Given the description of an element on the screen output the (x, y) to click on. 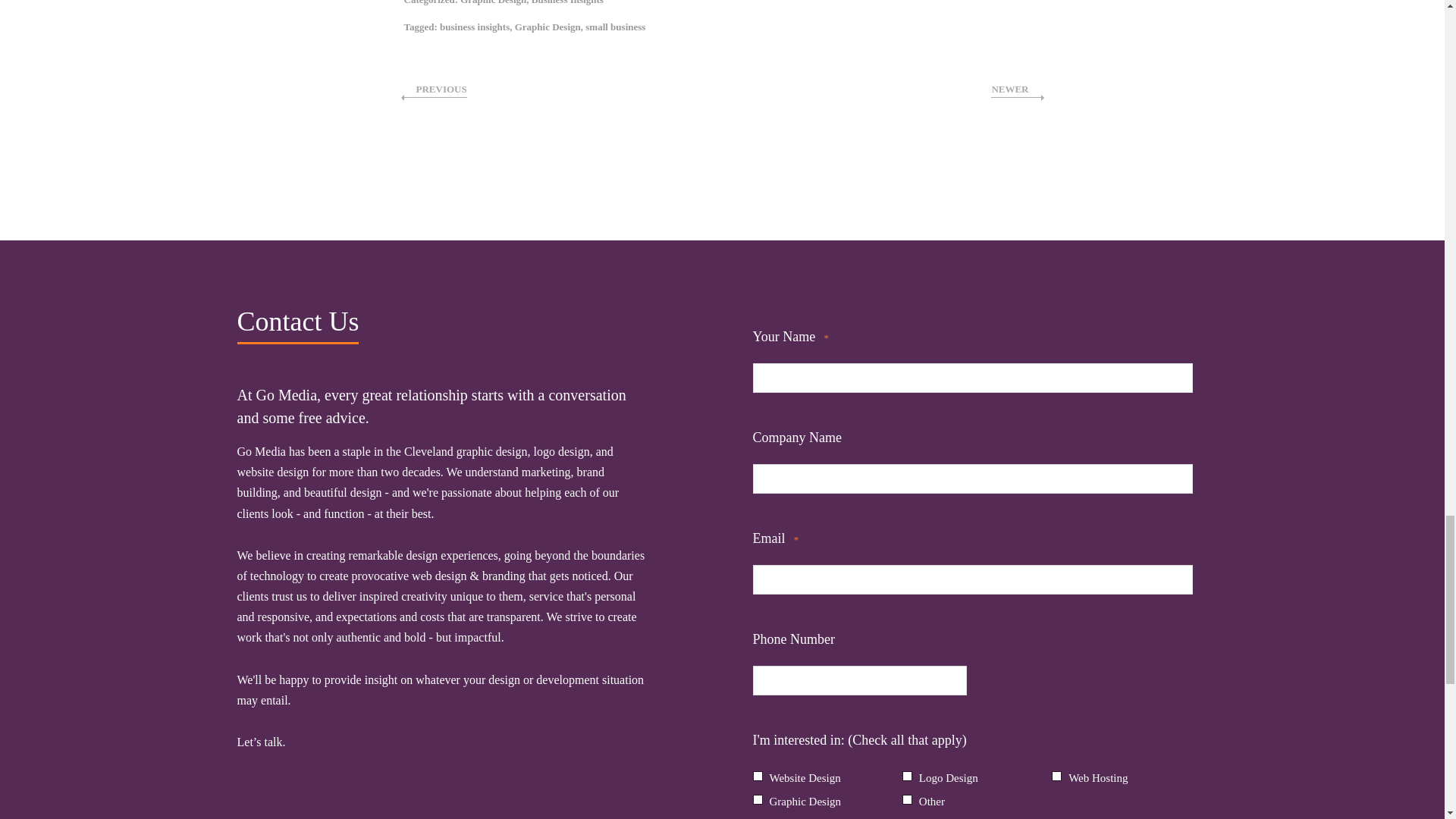
Graphic Design (547, 26)
Graphic Design (492, 2)
business insights (474, 26)
Business Insights (567, 2)
small business (615, 26)
Previous posts (434, 89)
Newer posts (1016, 89)
PREVIOUS (434, 89)
